Given the description of an element on the screen output the (x, y) to click on. 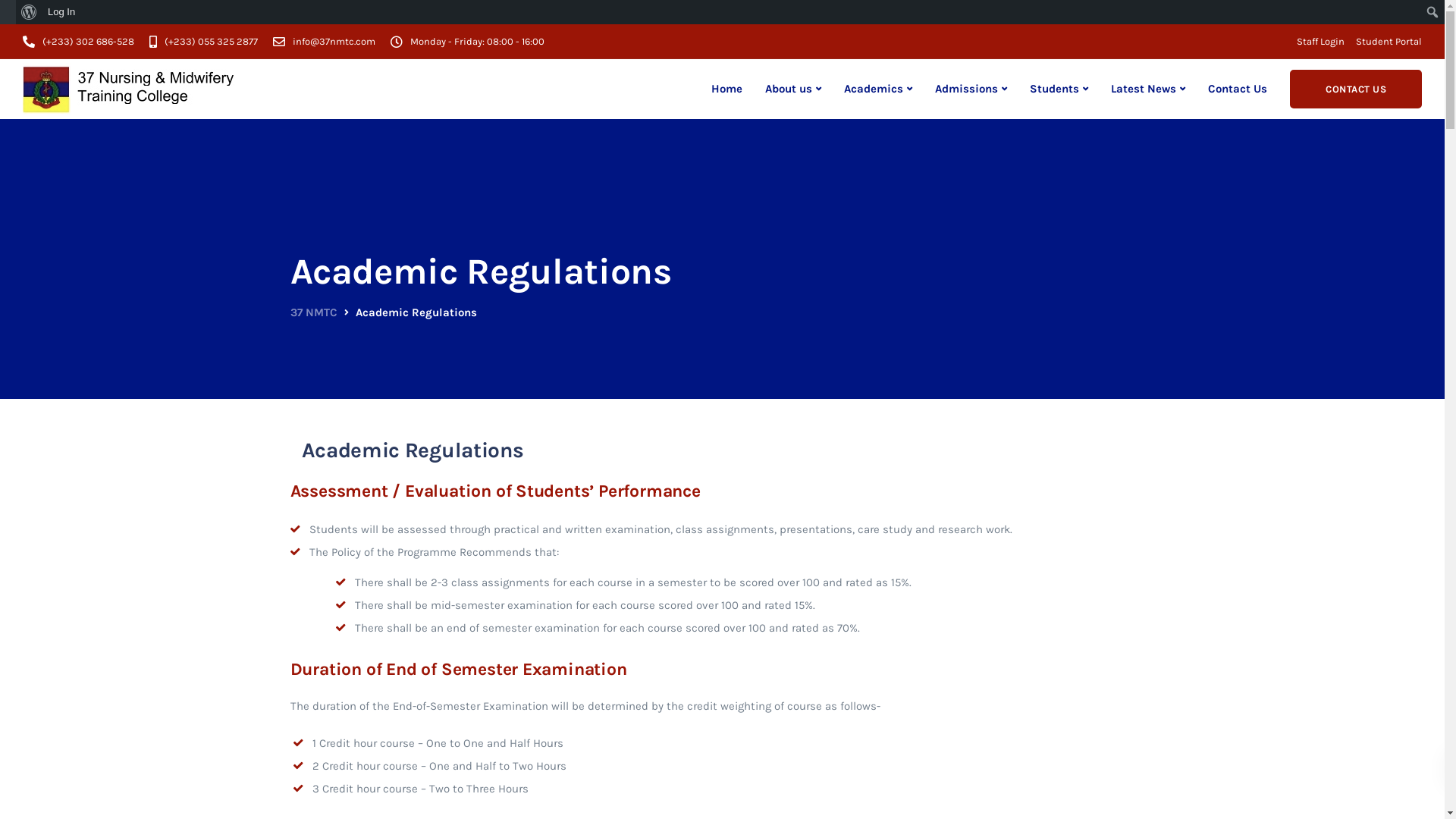
Application Procedures Element type: text (361, 671)
Admissions Element type: text (517, 515)
Campus Life Element type: text (766, 671)
Students Element type: text (1058, 89)
Student Portal Element type: text (1388, 41)
Academic Regulations Element type: text (575, 629)
Academics Element type: text (432, 515)
Admissions Element type: text (970, 89)
Search Element type: text (17, 13)
E-Library Element type: text (756, 714)
About Us Element type: text (325, 629)
Contact Element type: text (669, 515)
37 NMTC Element type: text (312, 312)
Registered General Nursing Element type: text (587, 650)
Location Element type: text (323, 714)
CONTACT US Element type: text (1355, 88)
Faculty Element type: text (536, 714)
(+233) 055 325 2877 Element type: text (214, 41)
Log In Element type: text (61, 12)
Students Element type: text (598, 515)
Disciplinary Rules Element type: text (780, 693)
info@37nmtc.com Element type: text (1034, 711)
About us Element type: text (792, 89)
info@37nmtc.com Element type: text (337, 41)
Registered Midwifery Element type: text (571, 671)
Home Element type: text (726, 89)
Academics Element type: text (877, 89)
Staff Login Element type: text (1320, 41)
Academic Regulations Element type: text (359, 693)
About 37NMTC Element type: text (339, 515)
Academic Facilities Element type: text (567, 693)
Duration of End of Semester Examination Element type: text (457, 668)
Contact Us Element type: text (1237, 89)
Latest News Element type: text (1147, 89)
Entry Requirements Element type: text (352, 650)
(+233) 302 686-528 Element type: text (91, 41)
